Given the description of an element on the screen output the (x, y) to click on. 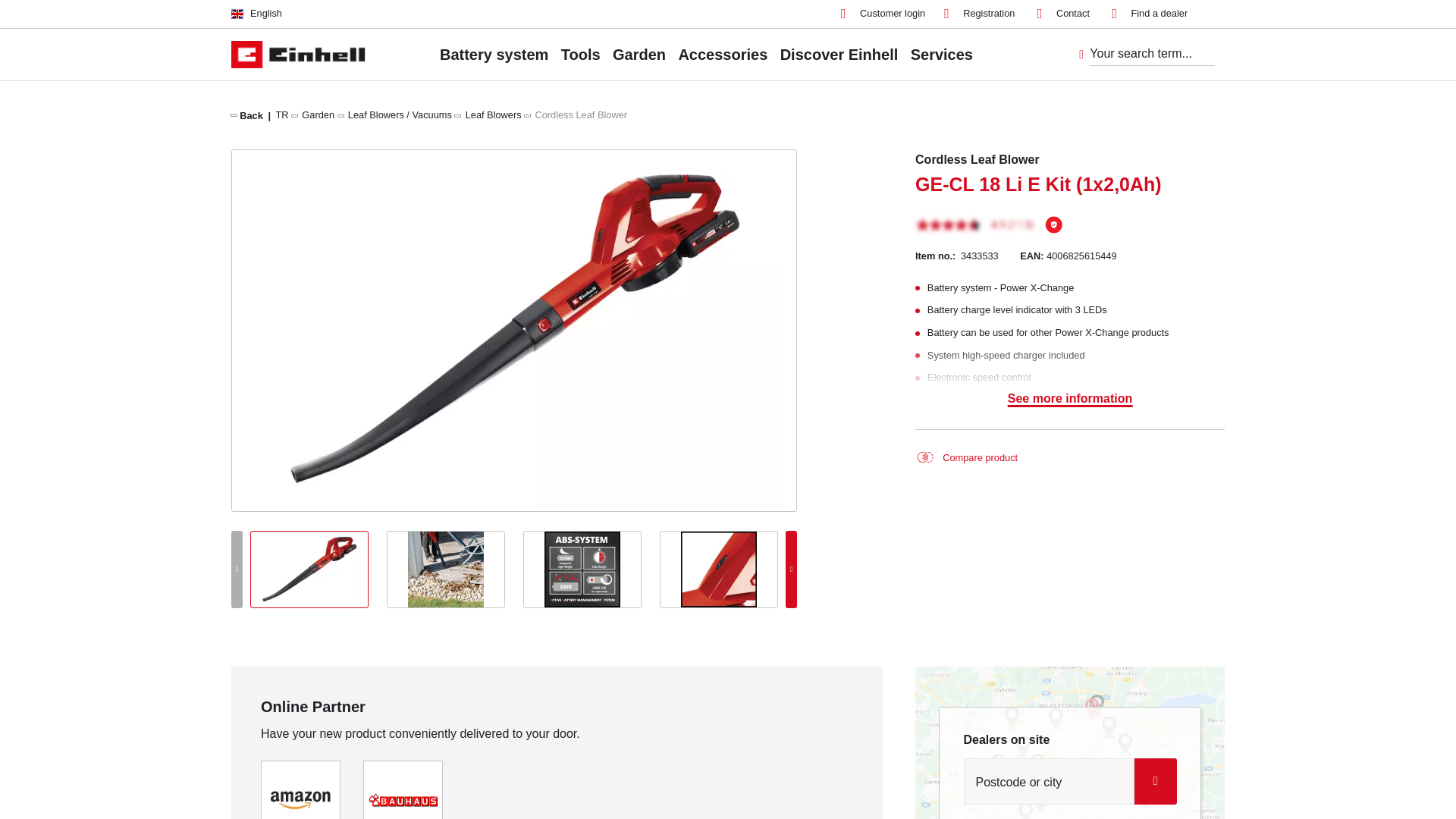
Contact (1062, 13)
Leaf Blowers (493, 114)
Battery system (493, 54)
Garden (317, 114)
Find a dealer (1150, 13)
TR (282, 114)
Registration (978, 13)
Customer login (882, 13)
Amazon (300, 798)
Bauhaus (403, 798)
